Given the description of an element on the screen output the (x, y) to click on. 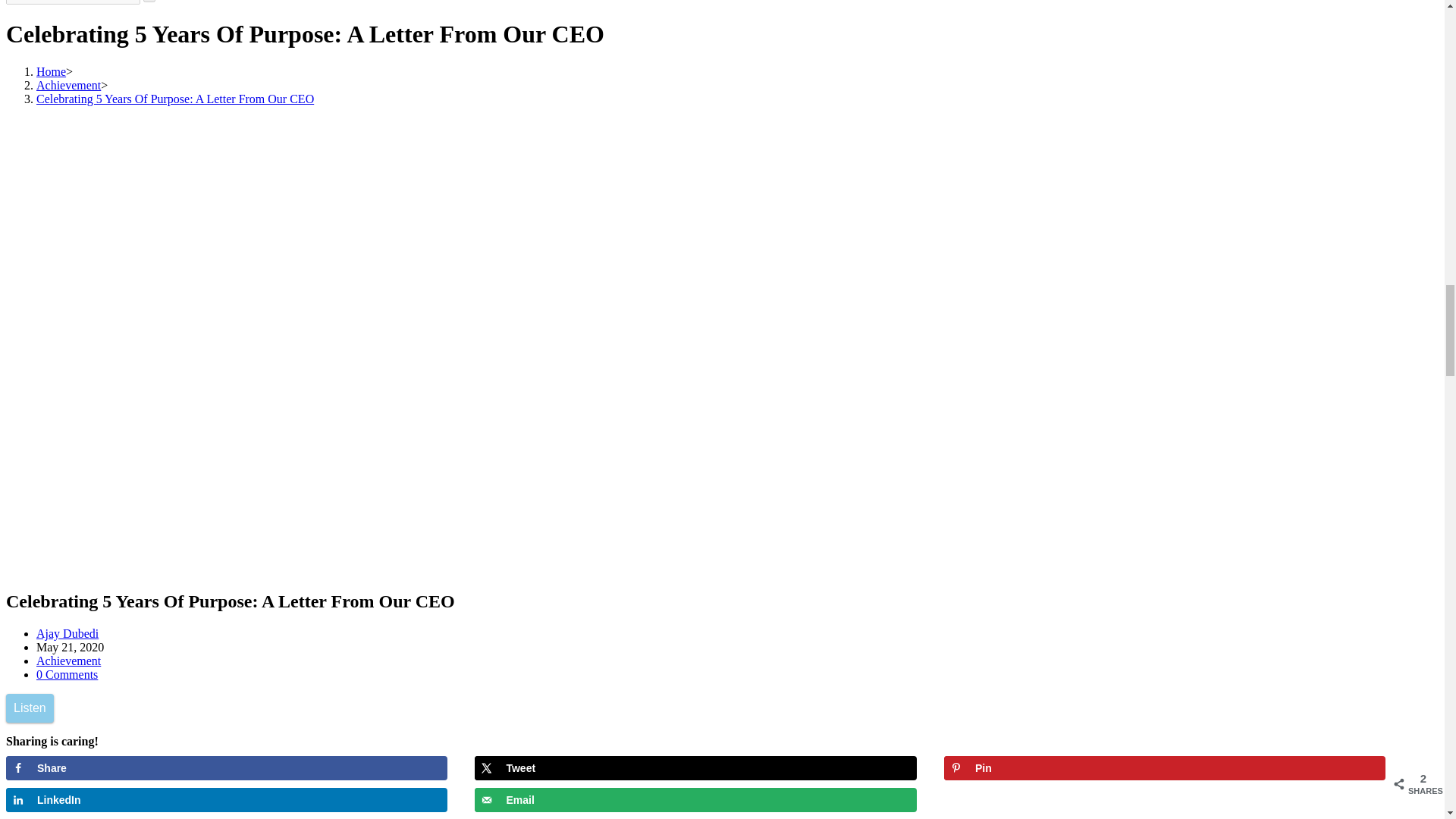
Share on LinkedIn (225, 799)
Listen the blog (29, 707)
Save to Pinterest (1164, 767)
Share on Facebook (225, 767)
Posts by Ajay Dubedi (67, 633)
Send over email (694, 799)
Share on X (694, 767)
